Given the description of an element on the screen output the (x, y) to click on. 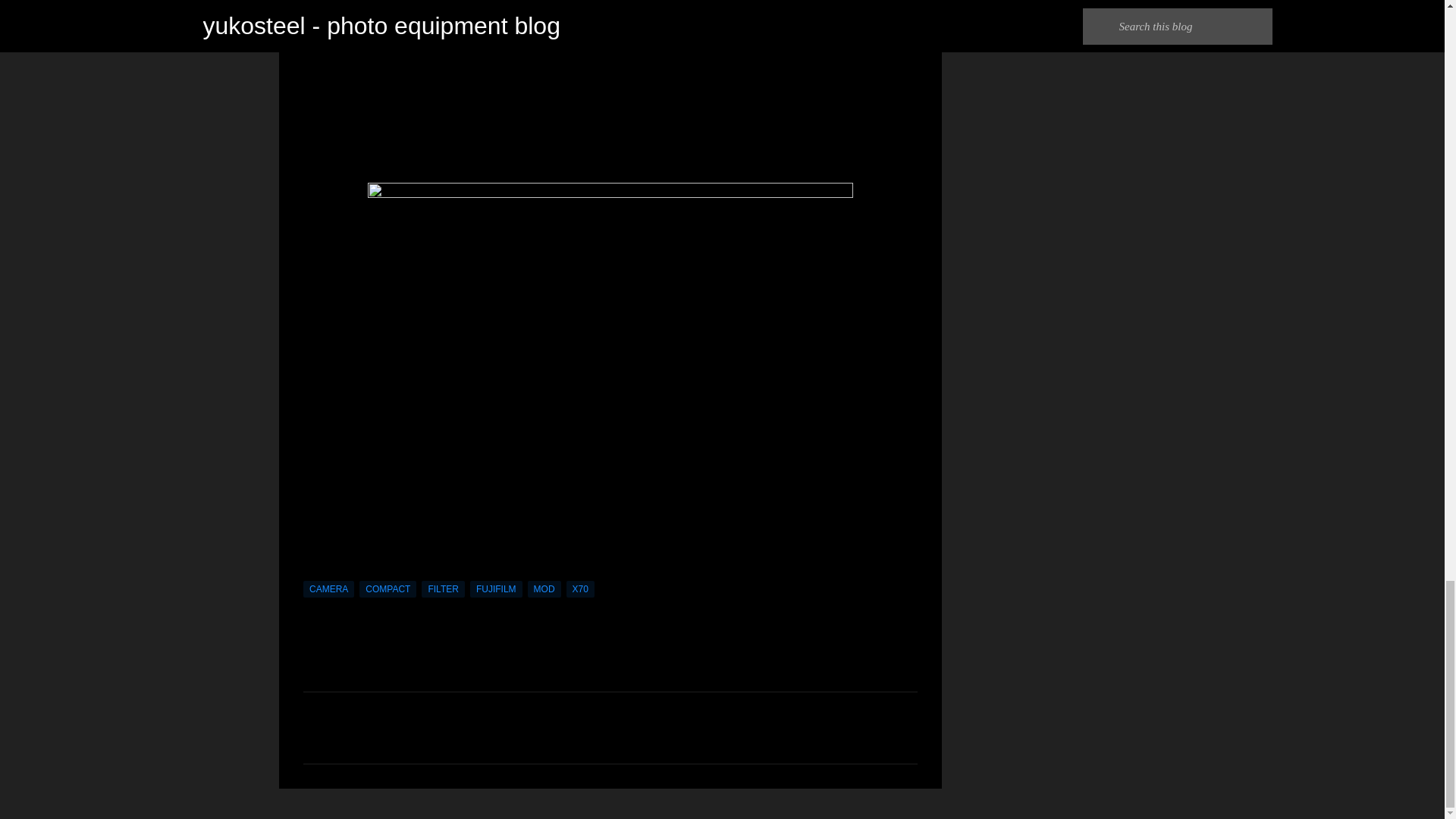
CAMERA (327, 588)
FUJIFILM (496, 588)
MOD (543, 588)
COMPACT (387, 588)
FILTER (443, 588)
X70 (580, 588)
